Given the description of an element on the screen output the (x, y) to click on. 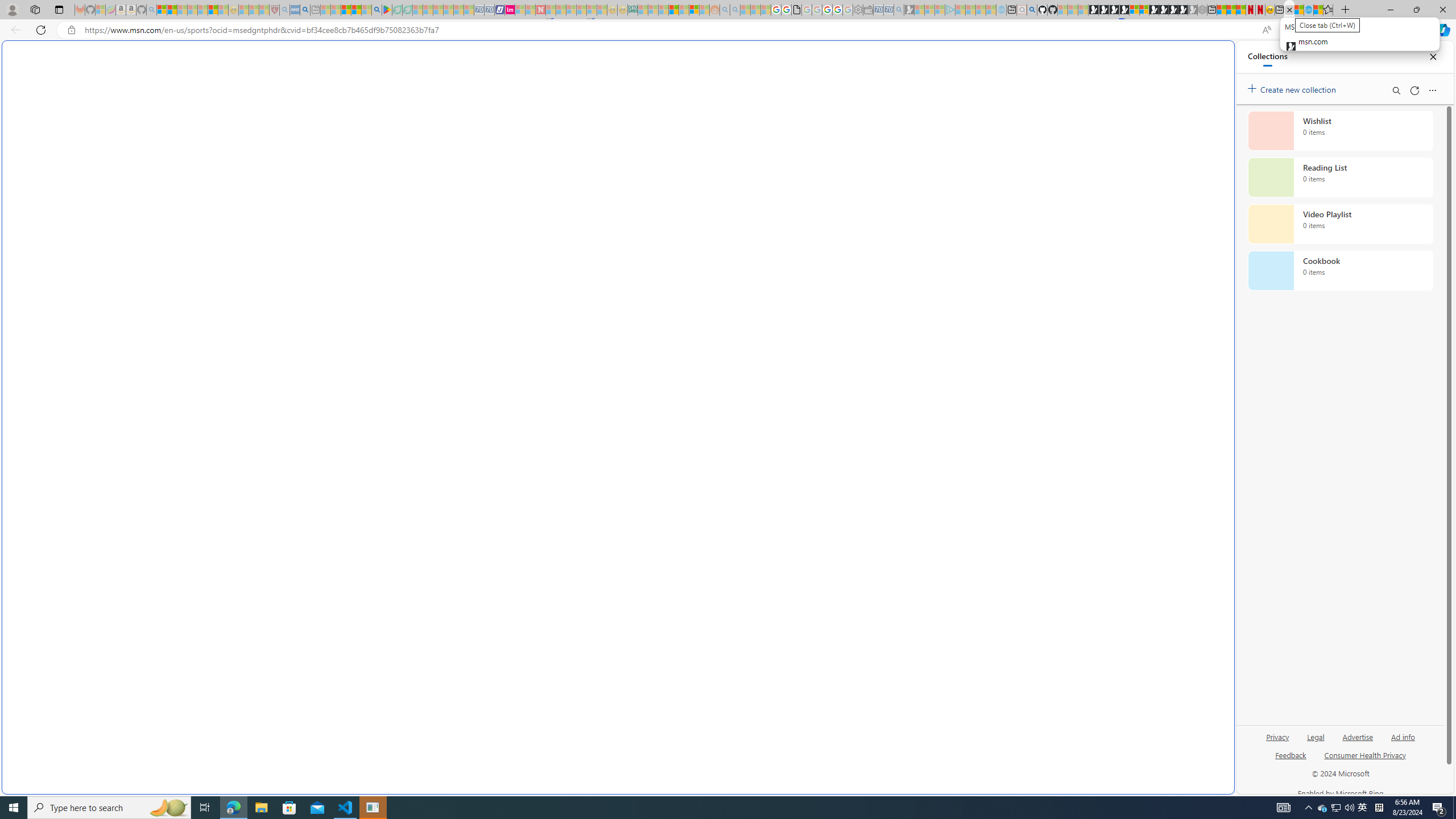
github - Search (1032, 9)
Video Playlist collection, 0 items (1339, 223)
